Given the description of an element on the screen output the (x, y) to click on. 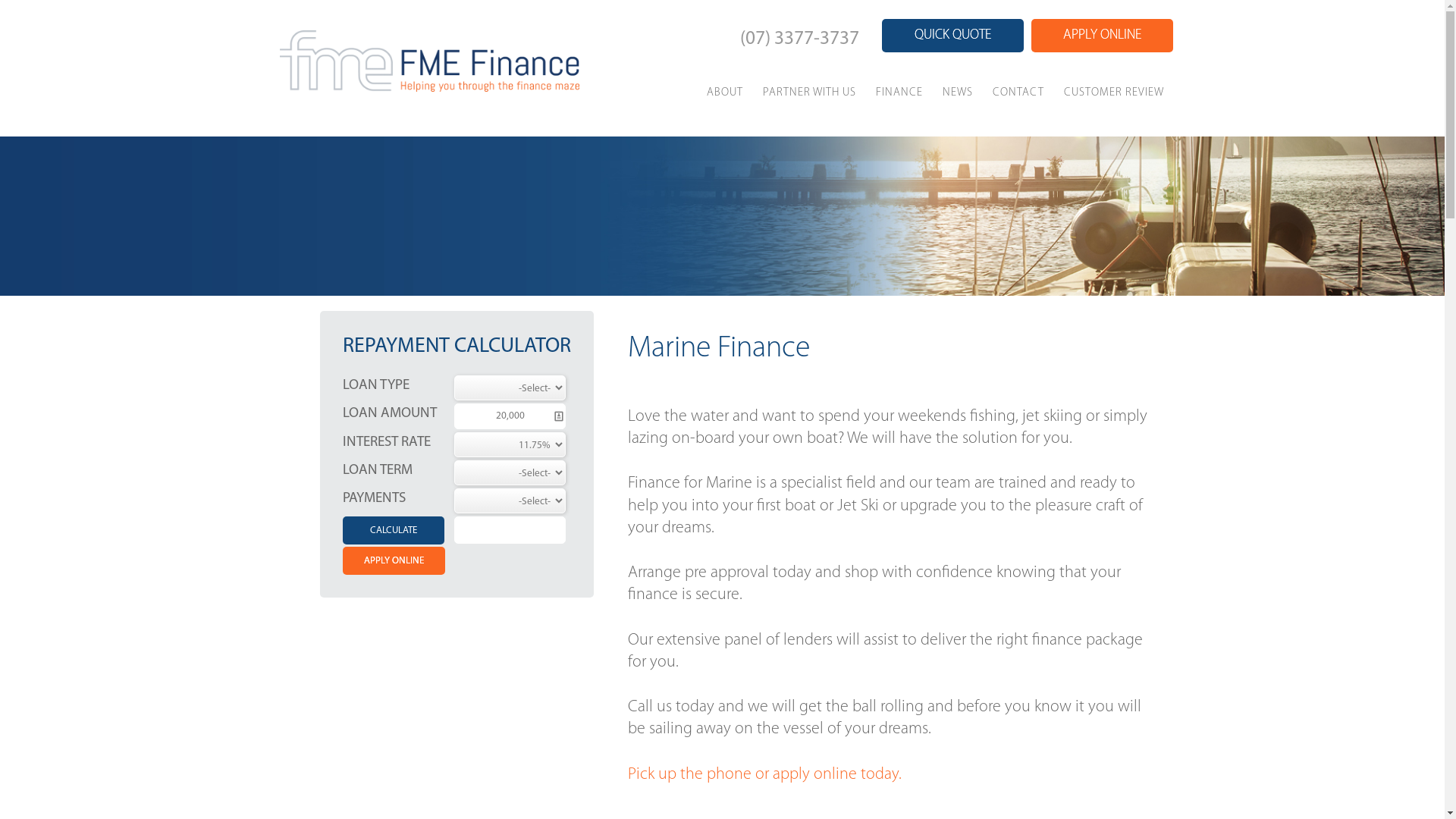
Pick up the phone or apply online today. Element type: text (764, 774)
ABOUT Element type: text (724, 90)
QUICK QUOTE Element type: text (952, 35)
(07) 3377-3737 Element type: text (799, 38)
APPLY ONLINE Element type: text (393, 560)
NEWS Element type: text (957, 90)
CUSTOMER REVIEW Element type: text (1113, 90)
CONTACT Element type: text (1018, 90)
FINANCE Element type: text (899, 90)
APPLY ONLINE Element type: text (1102, 35)
PARTNER WITH US Element type: text (808, 90)
